Given the description of an element on the screen output the (x, y) to click on. 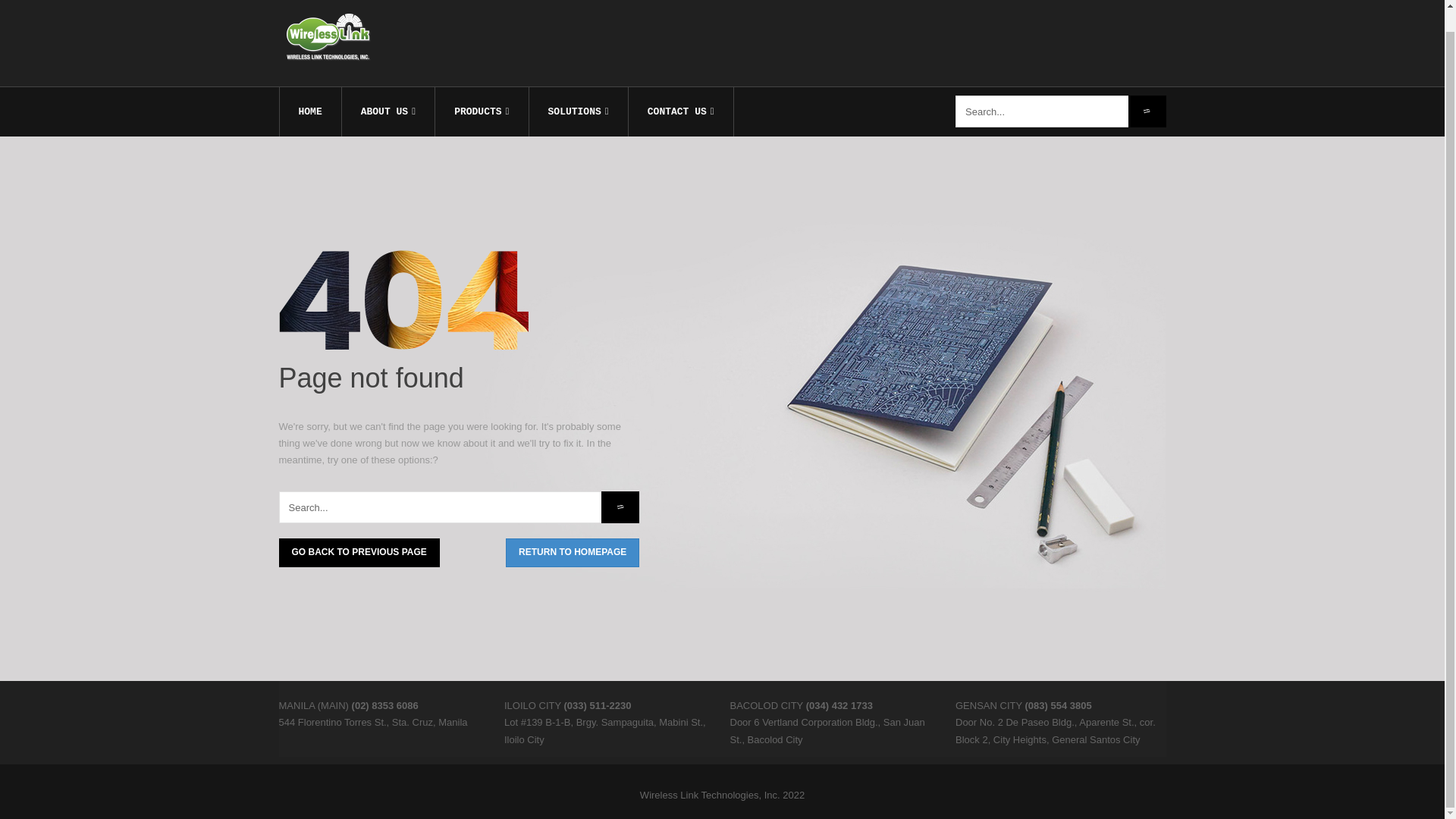
HOME (309, 111)
PRODUCTS (481, 111)
SOLUTIONS (578, 111)
ABOUT US (387, 111)
